Given the description of an element on the screen output the (x, y) to click on. 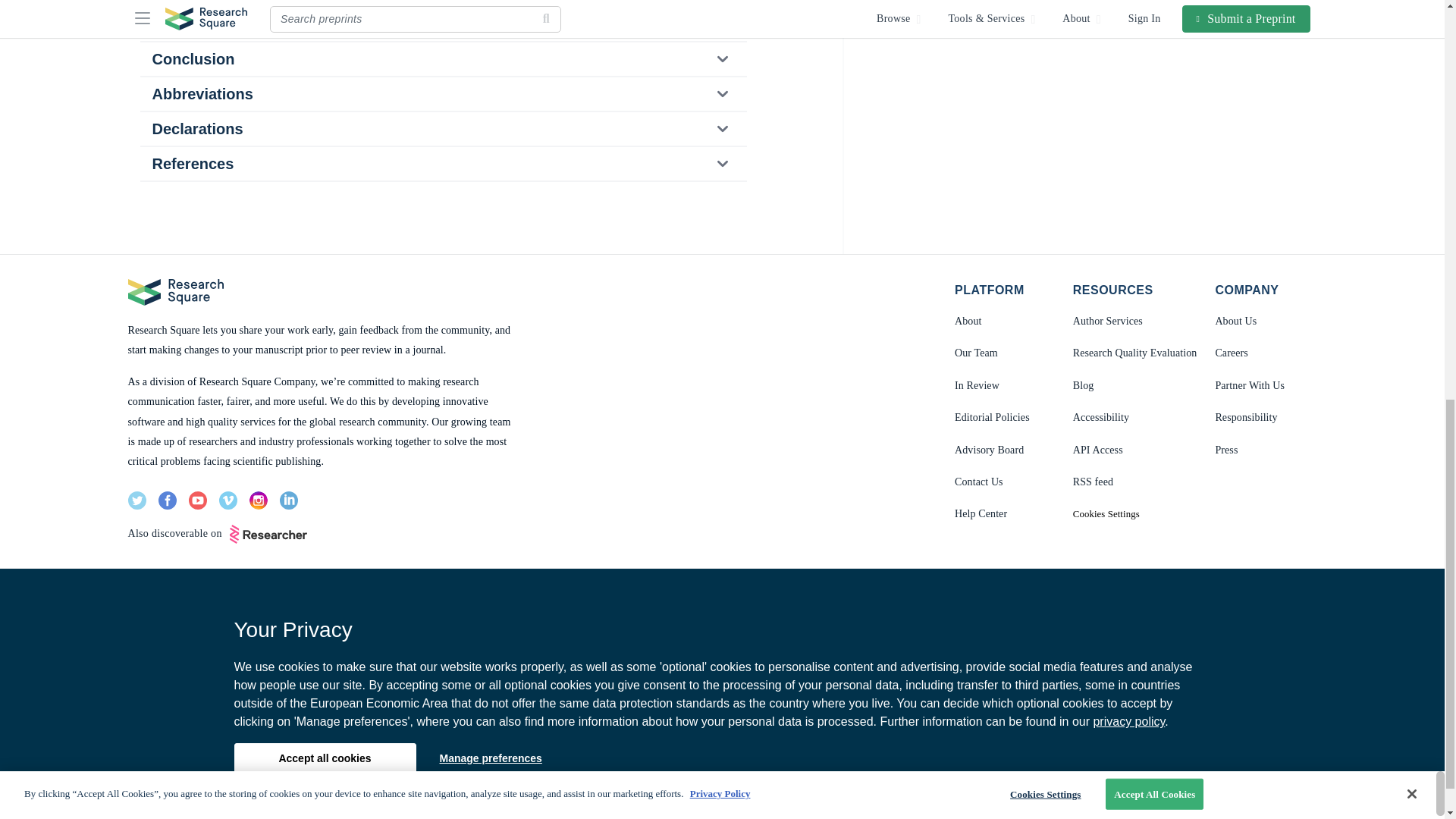
Conclusion (442, 59)
Abbreviations (442, 93)
Declarations (442, 128)
Discussion (442, 23)
